Given the description of an element on the screen output the (x, y) to click on. 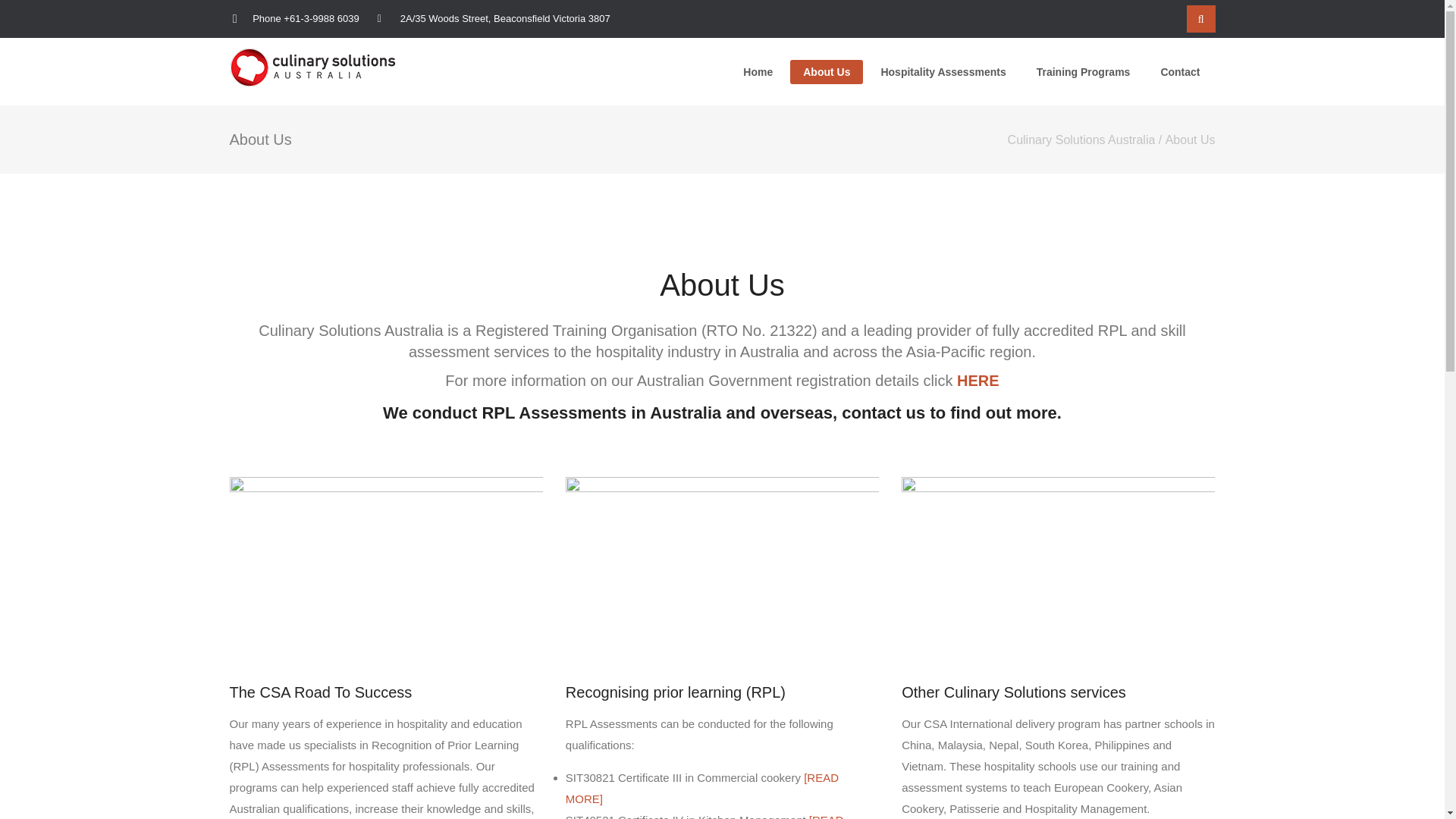
Training Programs (1083, 71)
Contact (1179, 71)
Hospitality Assessments (942, 71)
Culinary Solutions Australia (1081, 140)
About Us (825, 71)
HERE (977, 380)
